Given the description of an element on the screen output the (x, y) to click on. 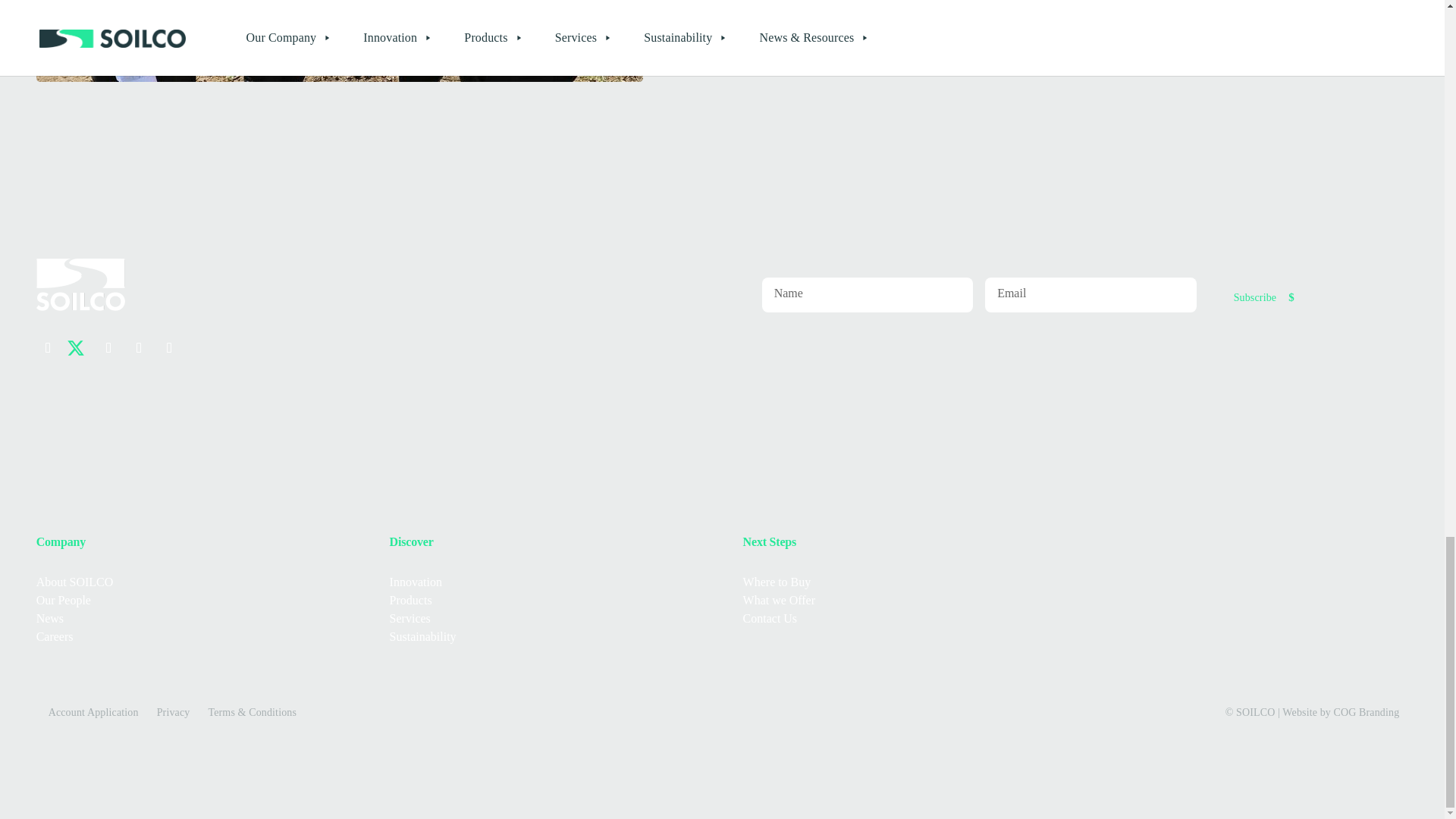
SOILCO-Design-Build-Operate-800x500-2 (339, 40)
Follow on LinkedIn (139, 347)
Follow on Twitter (78, 347)
Follow on Youtube (169, 347)
Follow on Instagram (108, 347)
SOILCO-Corporate-Identity-Stacked-No-Tagline-RGB-White 1 (80, 284)
Follow on Facebook (48, 347)
